Given the description of an element on the screen output the (x, y) to click on. 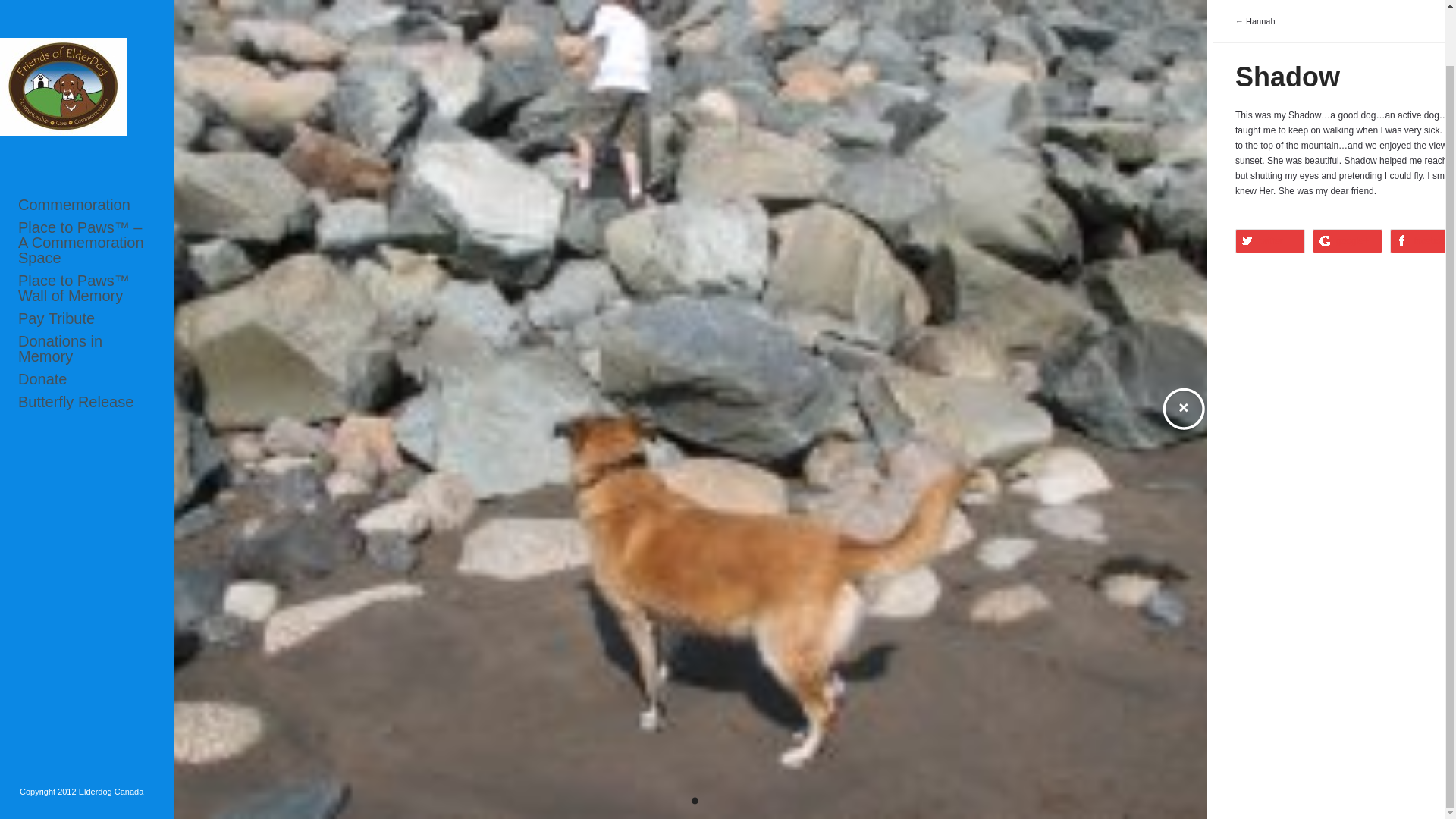
Commemoration (86, 143)
Pay Tribute (86, 257)
facebook (1423, 241)
Donate (86, 318)
Butterfly Release (86, 340)
twitter (1269, 241)
Close panel (1183, 409)
Donations in Memory (86, 287)
